Given the description of an element on the screen output the (x, y) to click on. 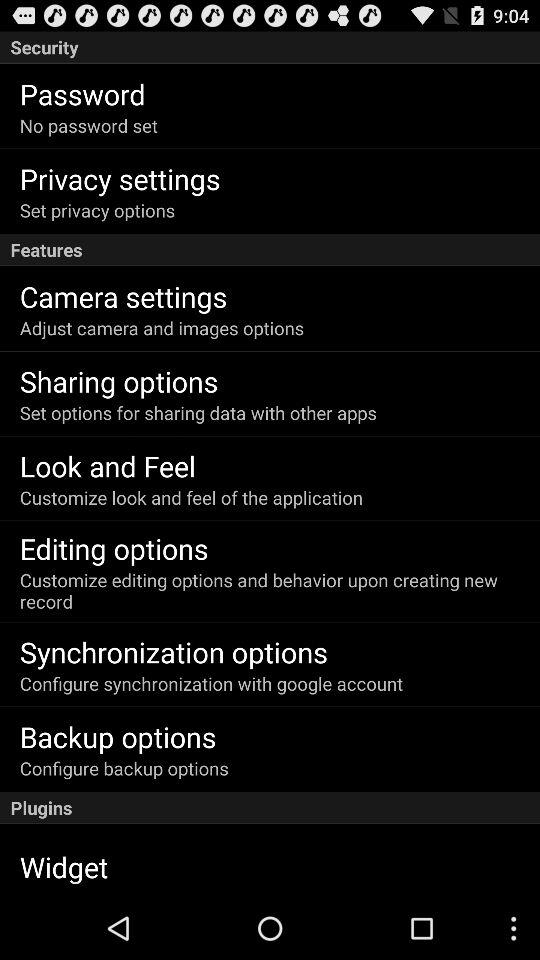
scroll to security app (270, 47)
